Given the description of an element on the screen output the (x, y) to click on. 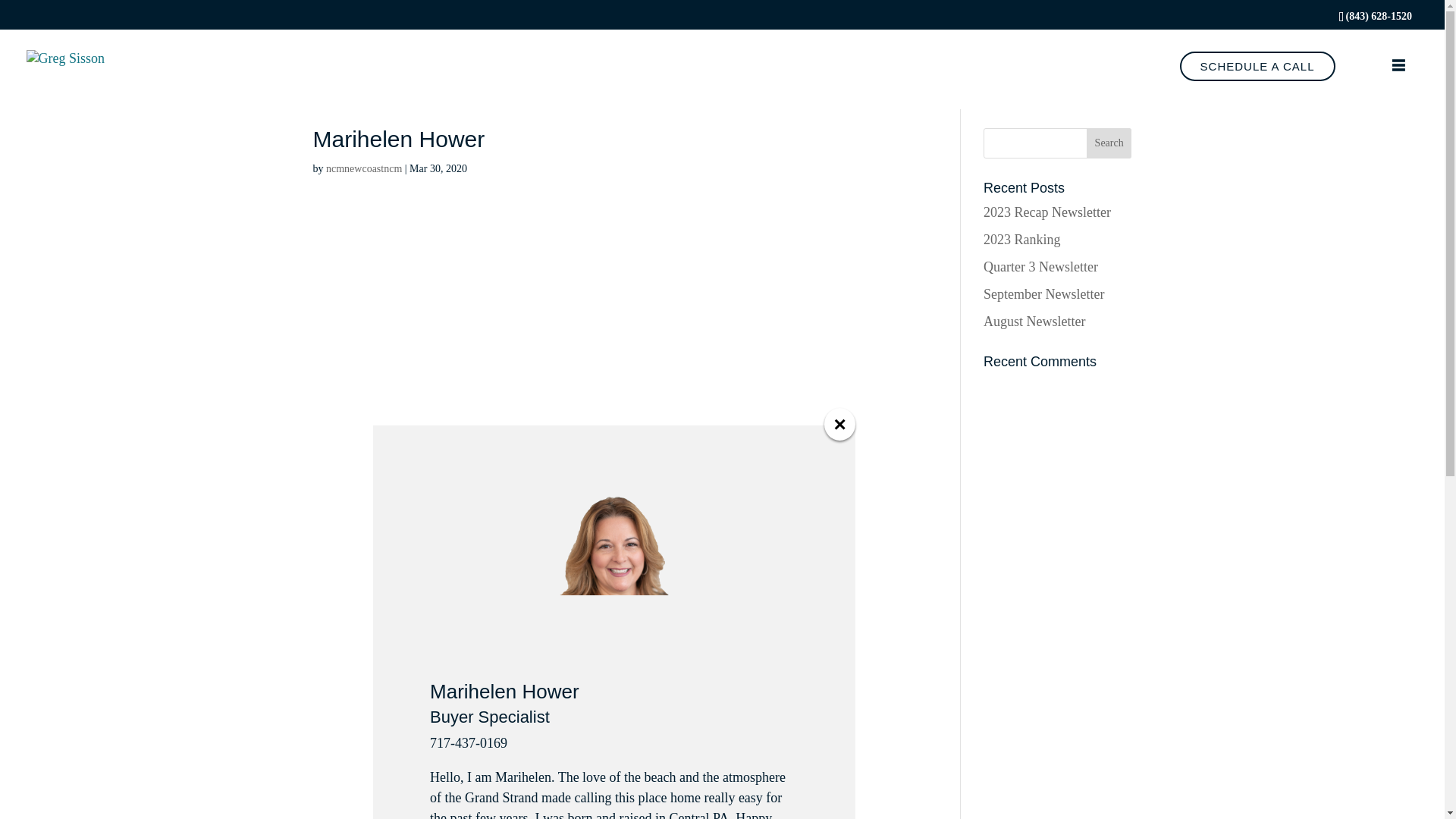
SCHEDULE A CALL (1257, 66)
Search (1109, 142)
2023 Recap Newsletter (1047, 212)
Search (1109, 142)
Posts by ncmnewcoastncm (363, 168)
Quarter 3 Newsletter (1040, 266)
ncmnewcoastncm (363, 168)
2023 Ranking (1022, 239)
September Newsletter (1043, 294)
August Newsletter (1034, 321)
